Given the description of an element on the screen output the (x, y) to click on. 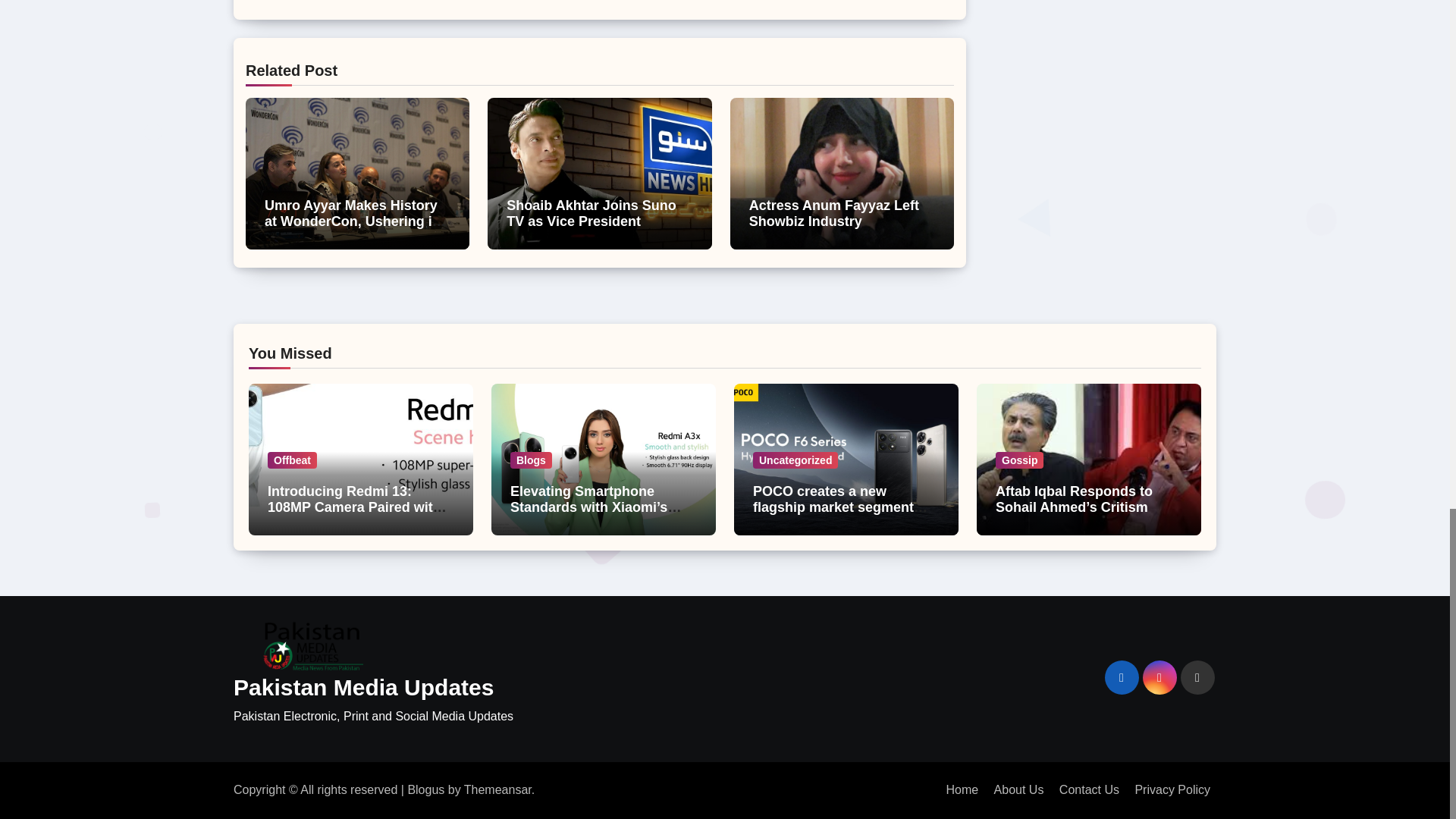
Permalink to: Actress Anum Fayyaz Left Showbiz Industry (833, 214)
About Us (1018, 789)
Home (961, 789)
Permalink to: Shoaib Akhtar Joins Suno TV as Vice President (590, 214)
Actress Anum Fayyaz Left Showbiz Industry (833, 214)
Shoaib Akhtar Joins Suno TV as Vice President (590, 214)
